Given the description of an element on the screen output the (x, y) to click on. 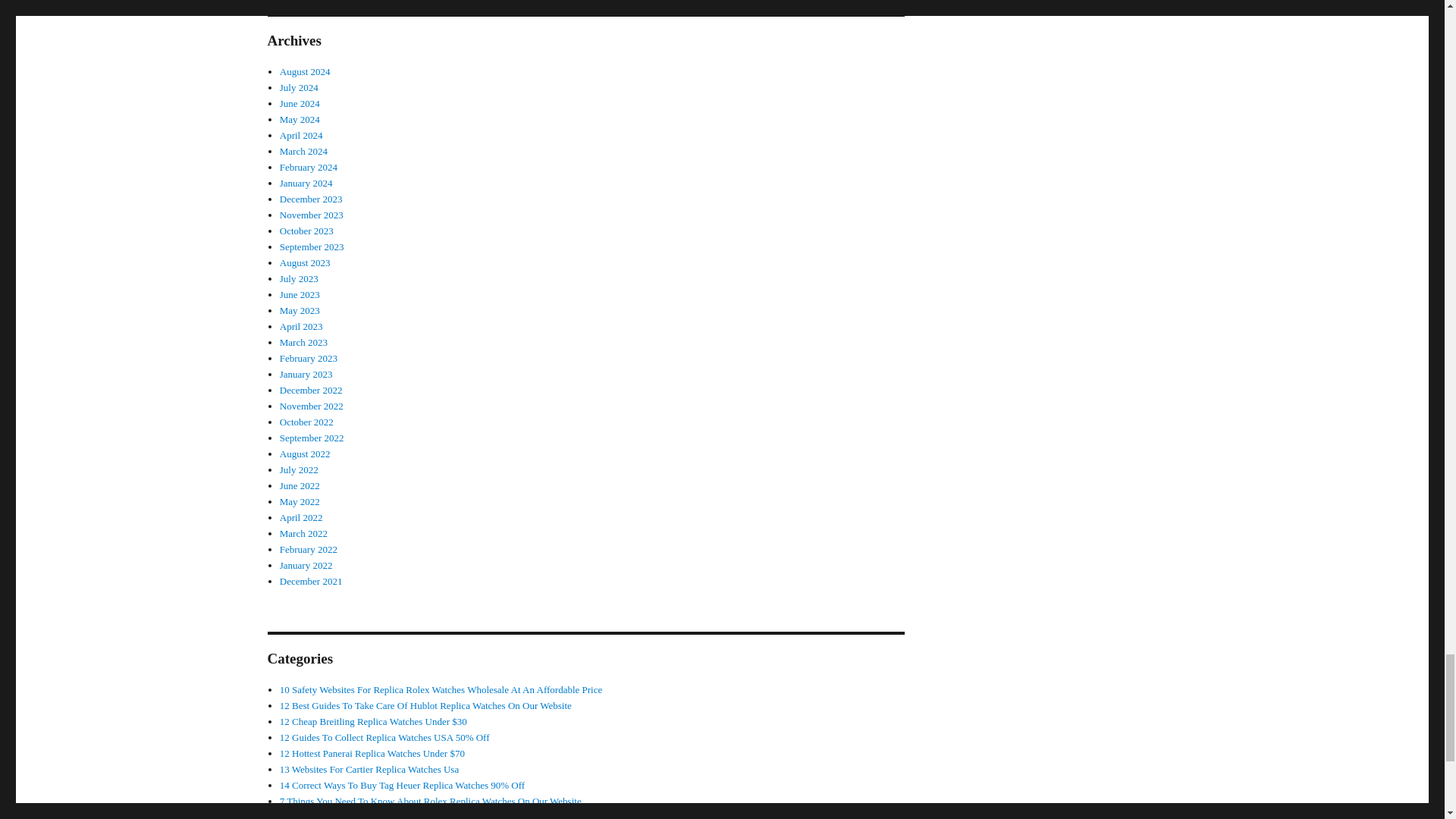
November 2023 (311, 214)
August 2024 (304, 71)
December 2022 (310, 389)
March 2023 (303, 342)
July 2023 (298, 278)
February 2024 (308, 166)
October 2023 (306, 230)
April 2024 (301, 134)
February 2023 (308, 357)
November 2022 (311, 405)
